Given the description of an element on the screen output the (x, y) to click on. 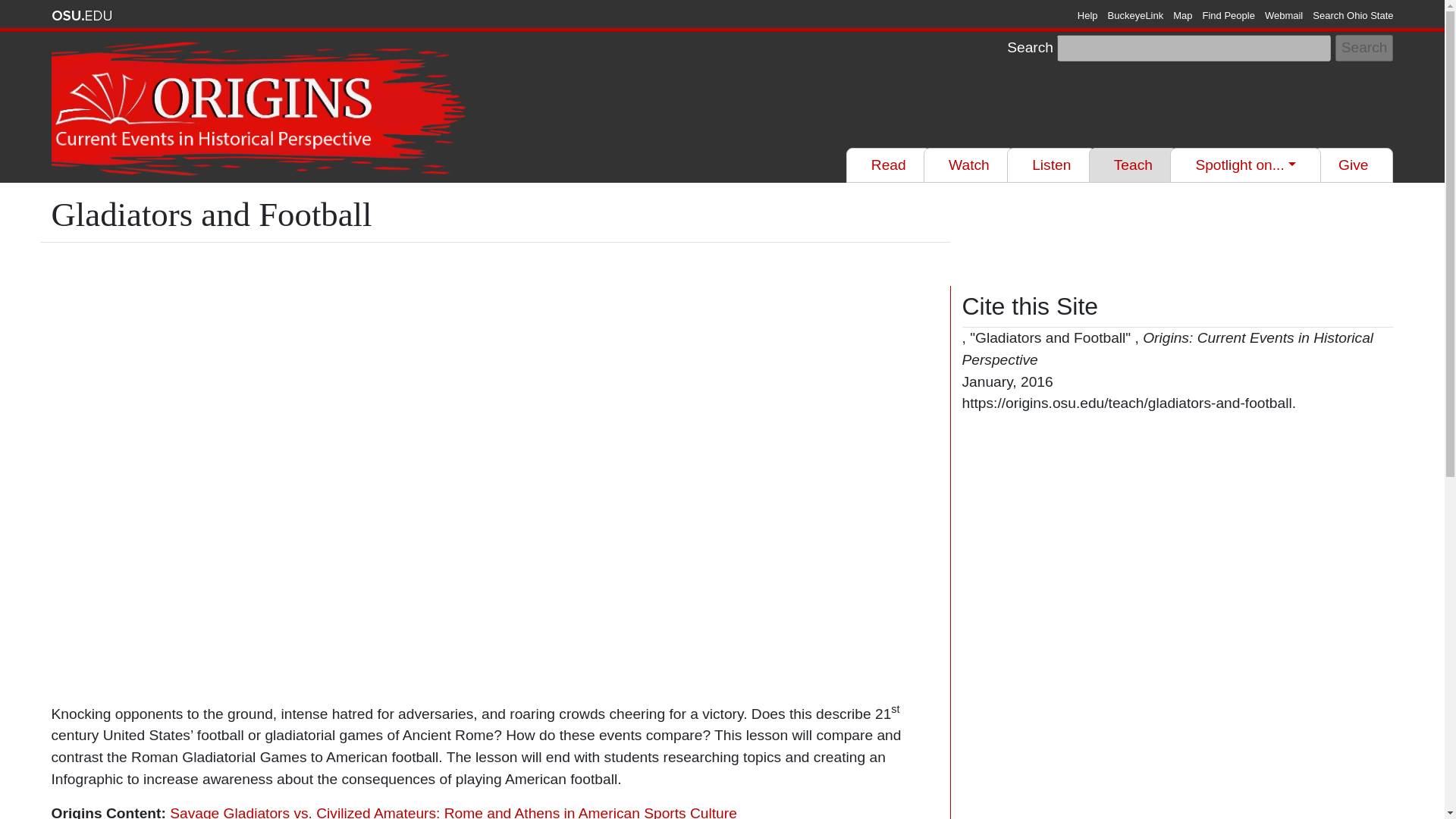
Search (1364, 48)
Spotlight on... (1245, 165)
The Ohio State University website (81, 15)
Watch (968, 165)
The Ohio State University website (81, 15)
Search Ohio State (1353, 15)
Teach (1133, 165)
Read (888, 165)
Search (1364, 48)
Listen (1051, 165)
Find People (1228, 15)
BuckeyeLink (1135, 15)
Home (260, 109)
Give (1353, 165)
